Given the description of an element on the screen output the (x, y) to click on. 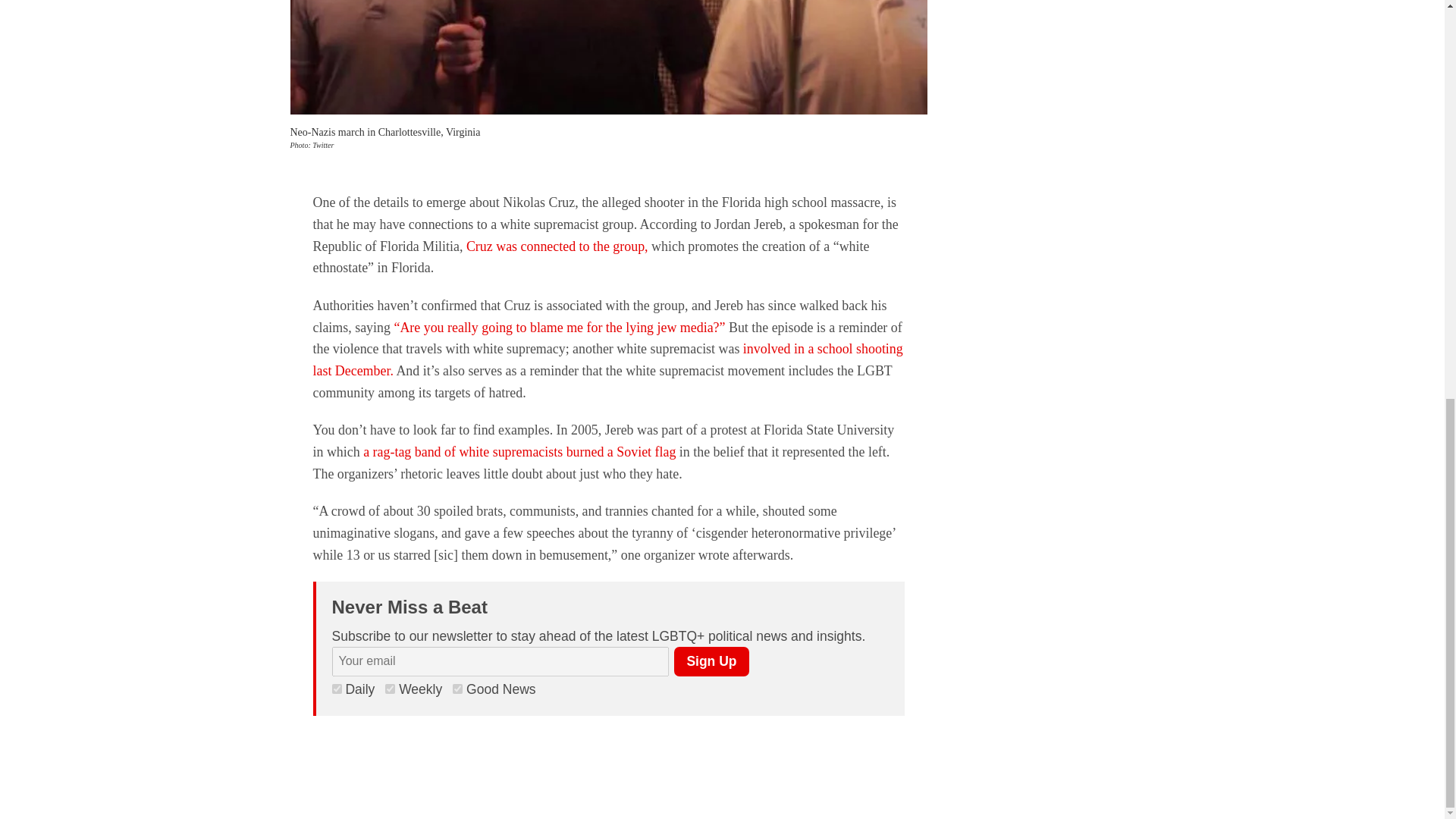
1920883 (457, 688)
involved in a school shooting last December. (607, 359)
a rag-tag band of white supremacists burned a Soviet flag (518, 451)
Charlottesville-torches-nazi (607, 57)
1920885 (336, 688)
Cruz was connected to the group, (556, 246)
1920884 (389, 688)
Sign Up (711, 661)
